Given the description of an element on the screen output the (x, y) to click on. 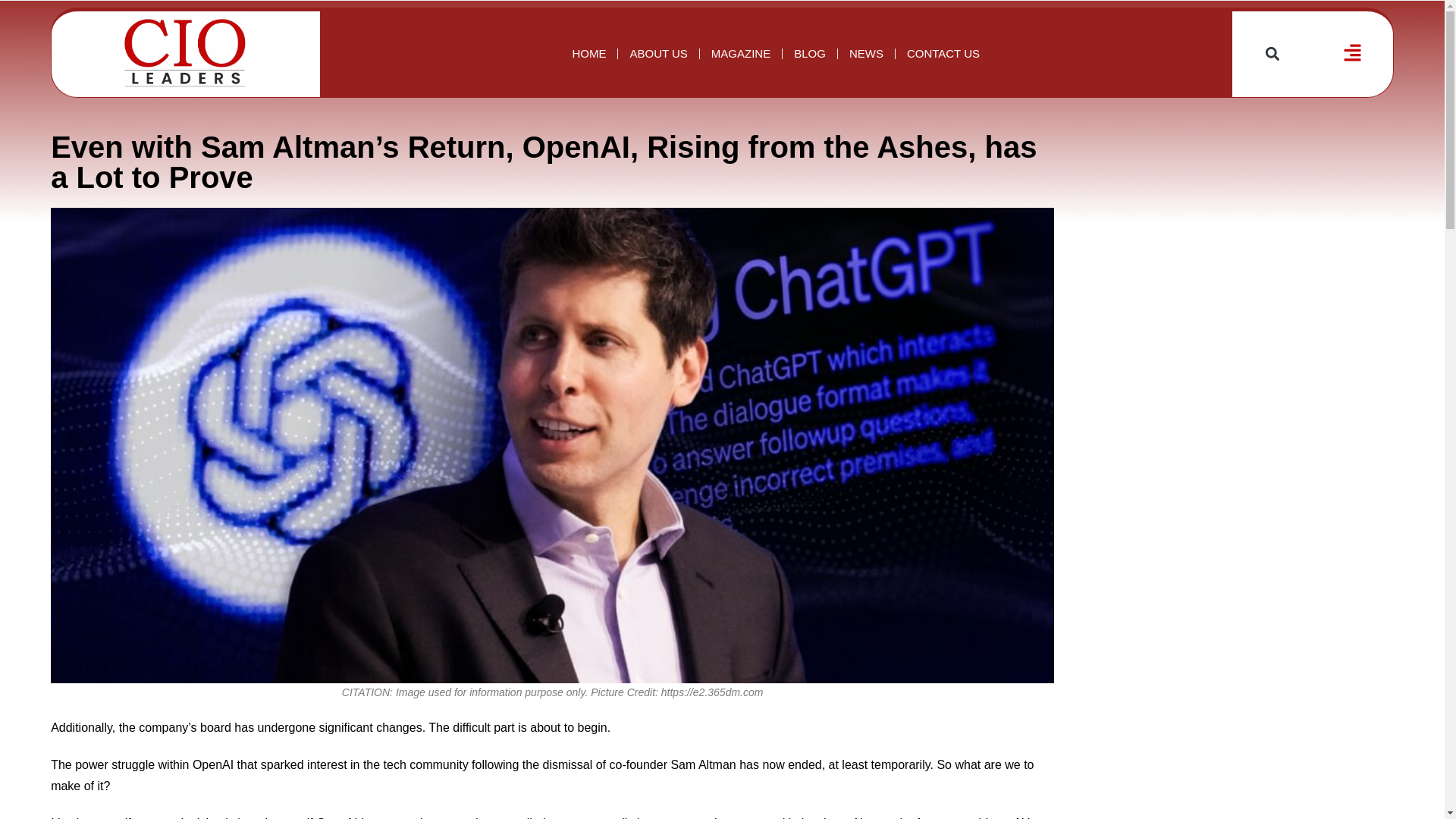
NEWS (866, 53)
CONTACT US (943, 53)
MAGAZINE (740, 53)
ABOUT US (657, 53)
BLOG (810, 53)
HOME (588, 53)
